Given the description of an element on the screen output the (x, y) to click on. 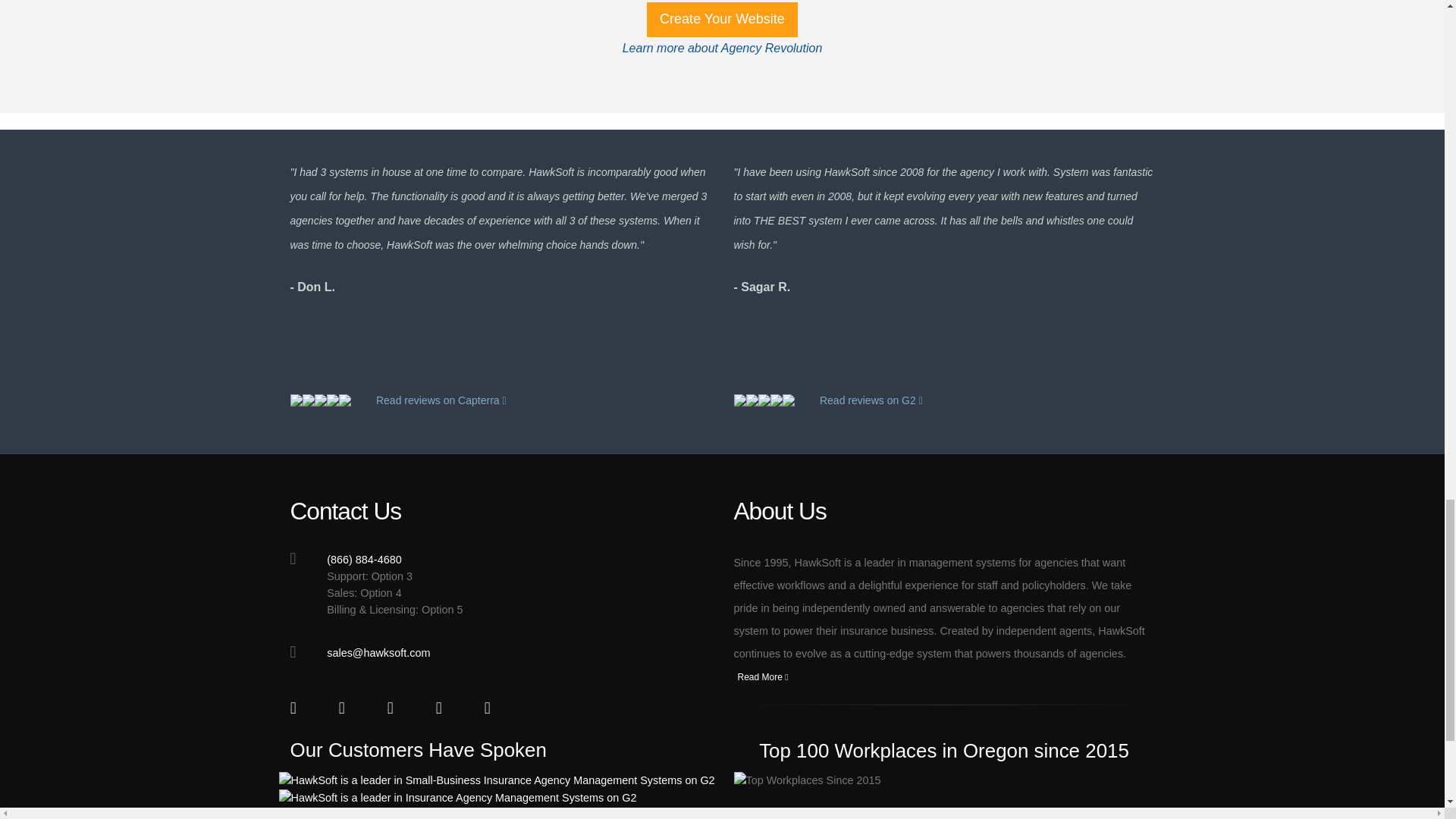
Instagram (446, 709)
Facebook (301, 709)
Twitter (349, 709)
Linkedin (398, 709)
Newsletter (494, 709)
